Given the description of an element on the screen output the (x, y) to click on. 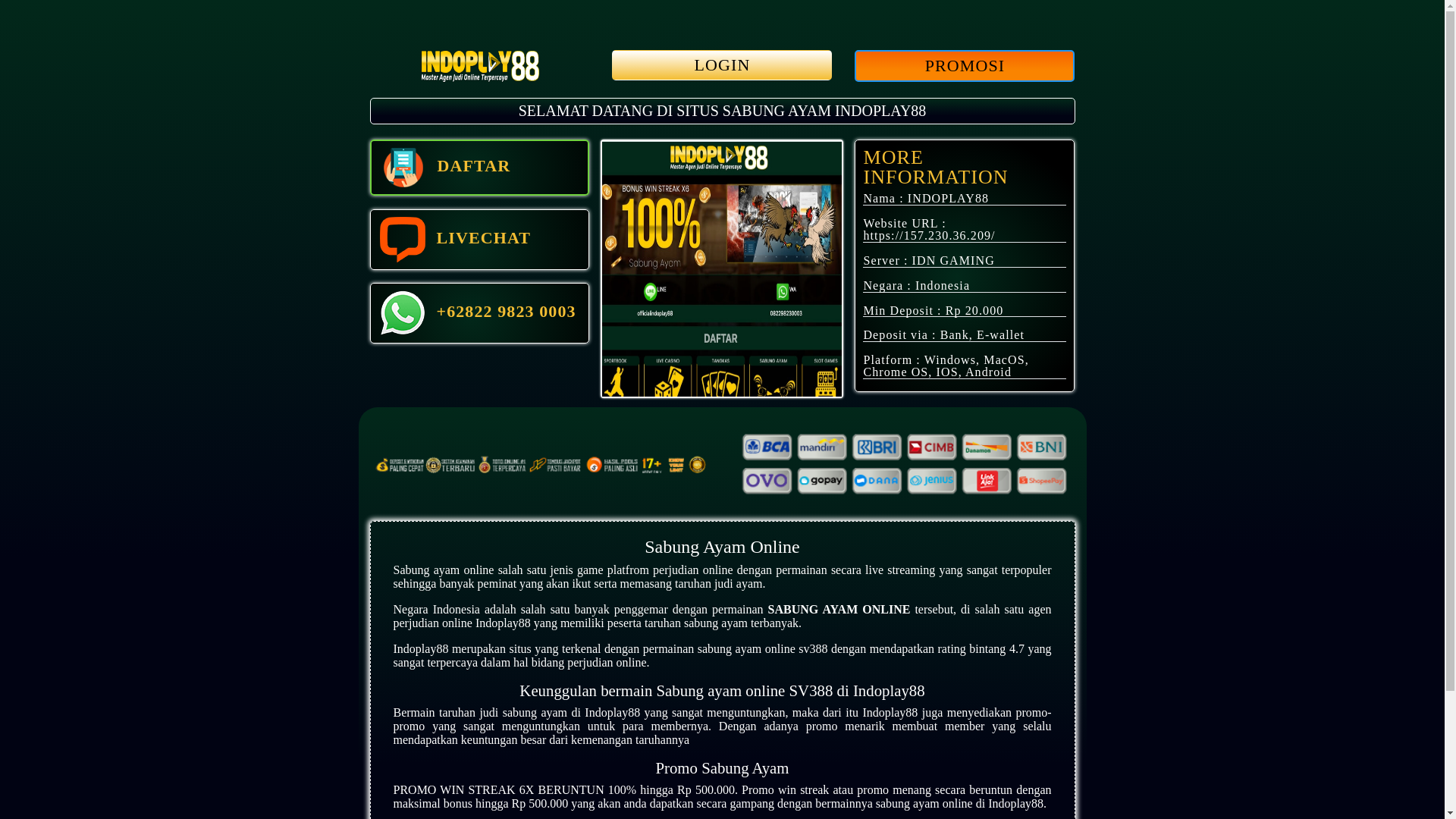
PROMOSI Element type: text (964, 66)
+62822 9823 0003 Element type: text (479, 312)
PROMOSI Element type: text (964, 65)
LIVECHAT Element type: text (479, 239)
LOGIN Element type: text (721, 65)
DAFTAR Element type: text (479, 167)
LOGIN Element type: text (721, 65)
